Given the description of an element on the screen output the (x, y) to click on. 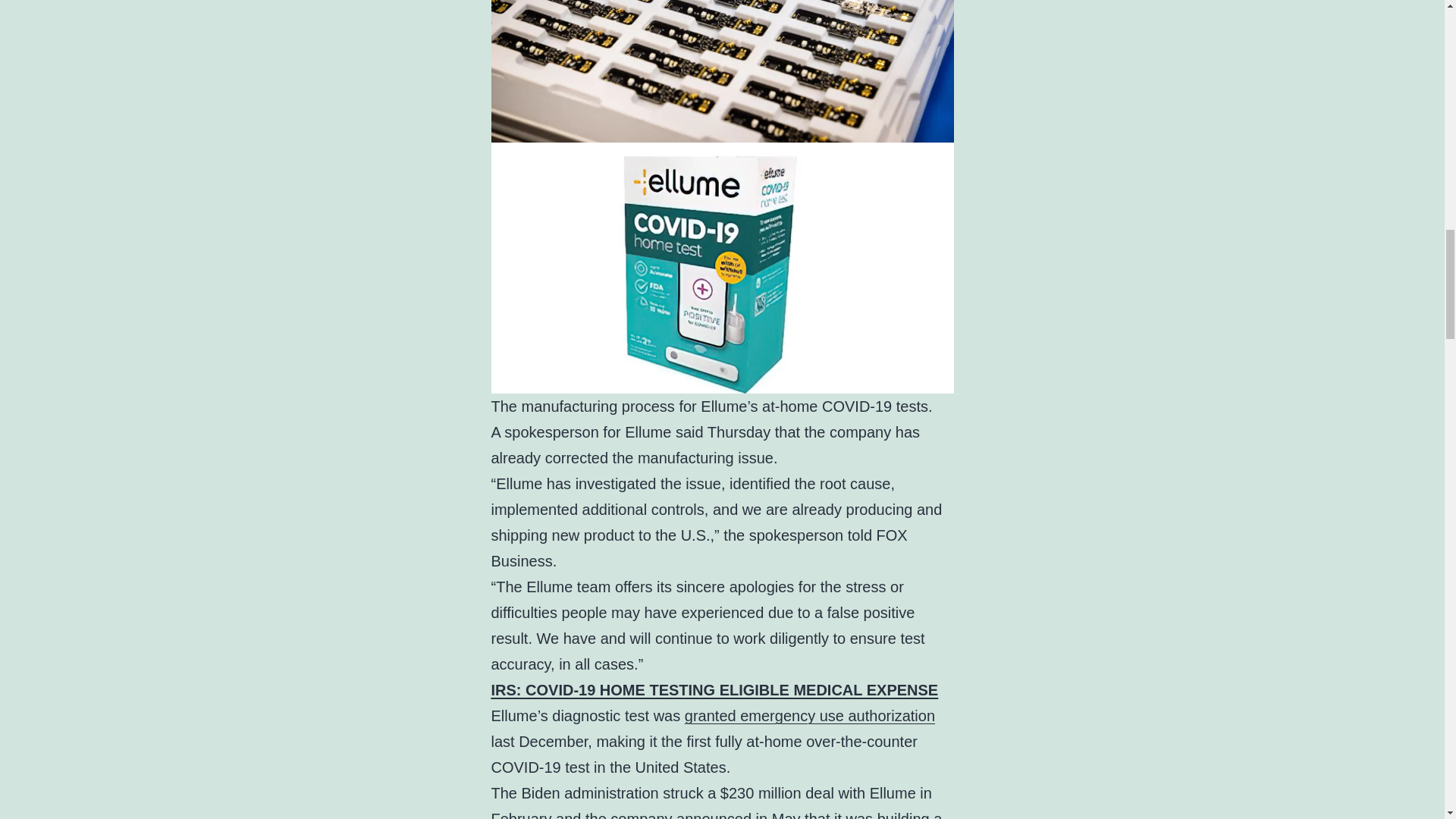
building a manufacturing facility (717, 814)
granted emergency use authorization (809, 715)
IRS: COVID-19 HOME TESTING ELIGIBLE MEDICAL EXPENSE (715, 689)
